Given the description of an element on the screen output the (x, y) to click on. 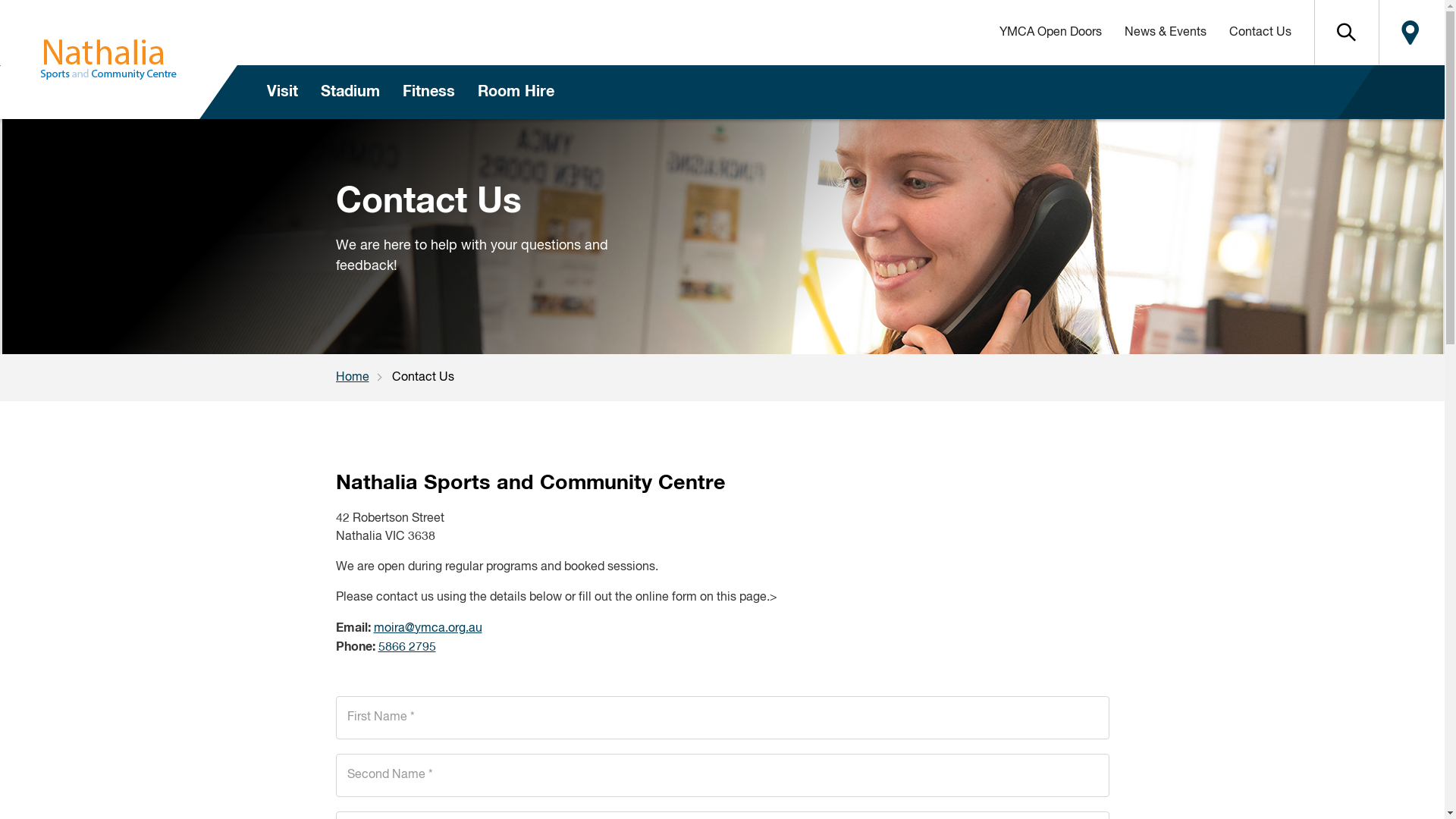
mca.org.au Element type: text (450, 628)
Visit Element type: text (281, 92)
Locate Element type: text (1410, 32)
5866 2795 Element type: text (406, 647)
YMCA Open Doors Element type: text (1049, 32)
Room Hire Element type: text (514, 92)
Fitness Element type: text (428, 92)
News & Events Element type: text (1165, 32)
Contact Us Element type: text (1259, 32)
Stadium Element type: text (350, 92)
Home Element type: text (363, 377)
moira@y Element type: text (396, 628)
